Given the description of an element on the screen output the (x, y) to click on. 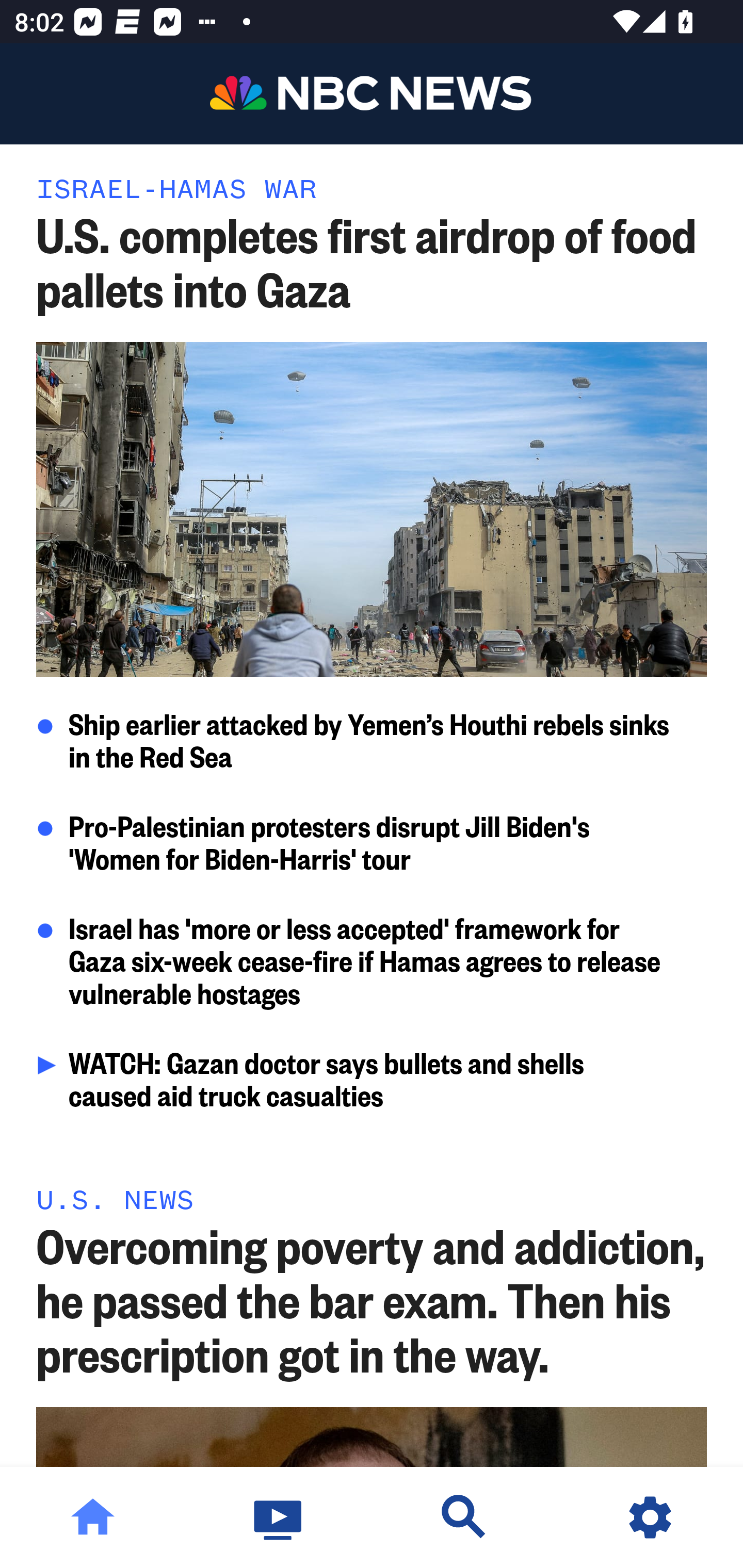
Watch (278, 1517)
Discover (464, 1517)
Settings (650, 1517)
